Given the description of an element on the screen output the (x, y) to click on. 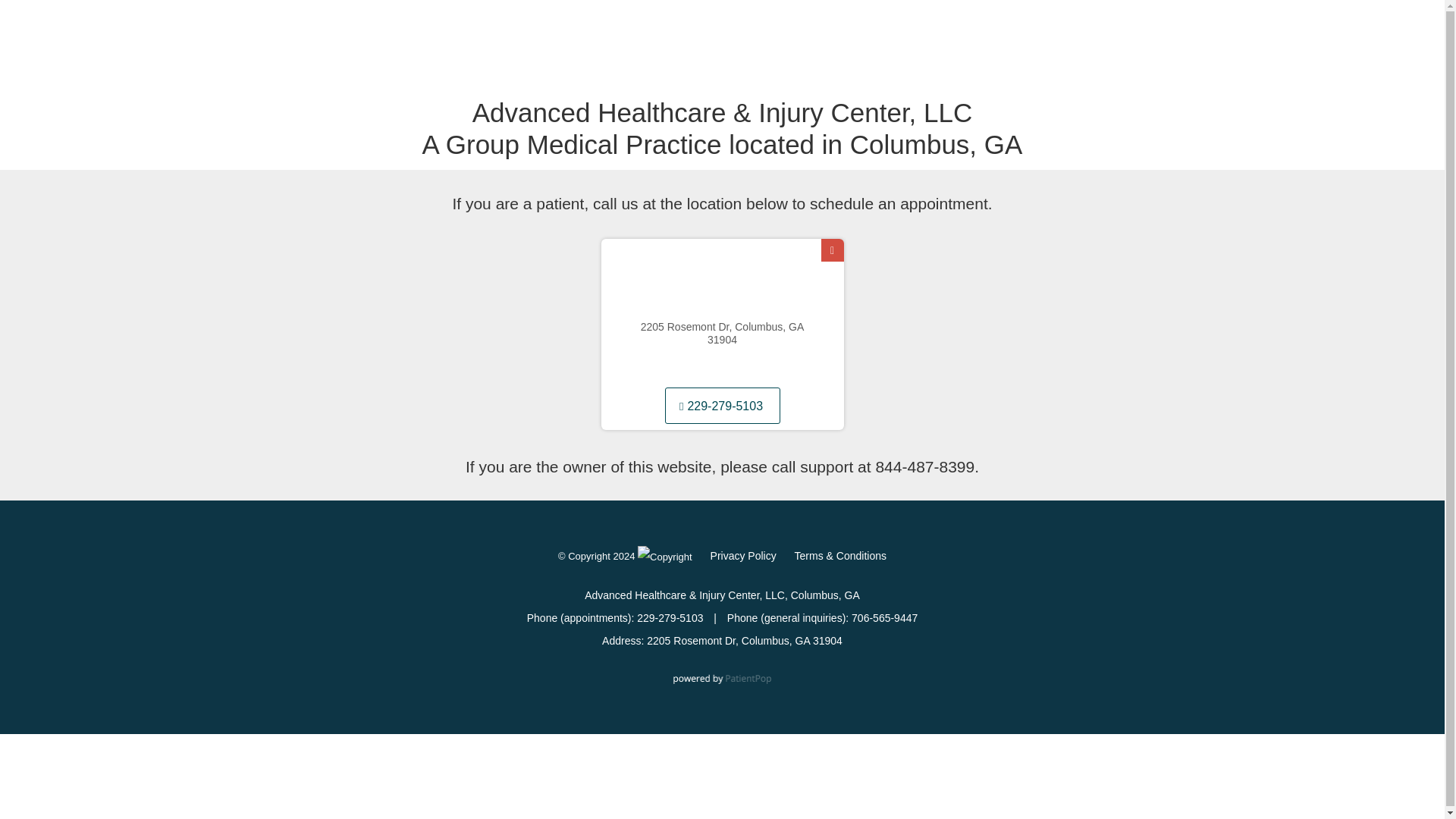
Telehealth (673, 70)
Skip to main content (74, 89)
Schedule a virtual visit (823, 70)
